Given the description of an element on the screen output the (x, y) to click on. 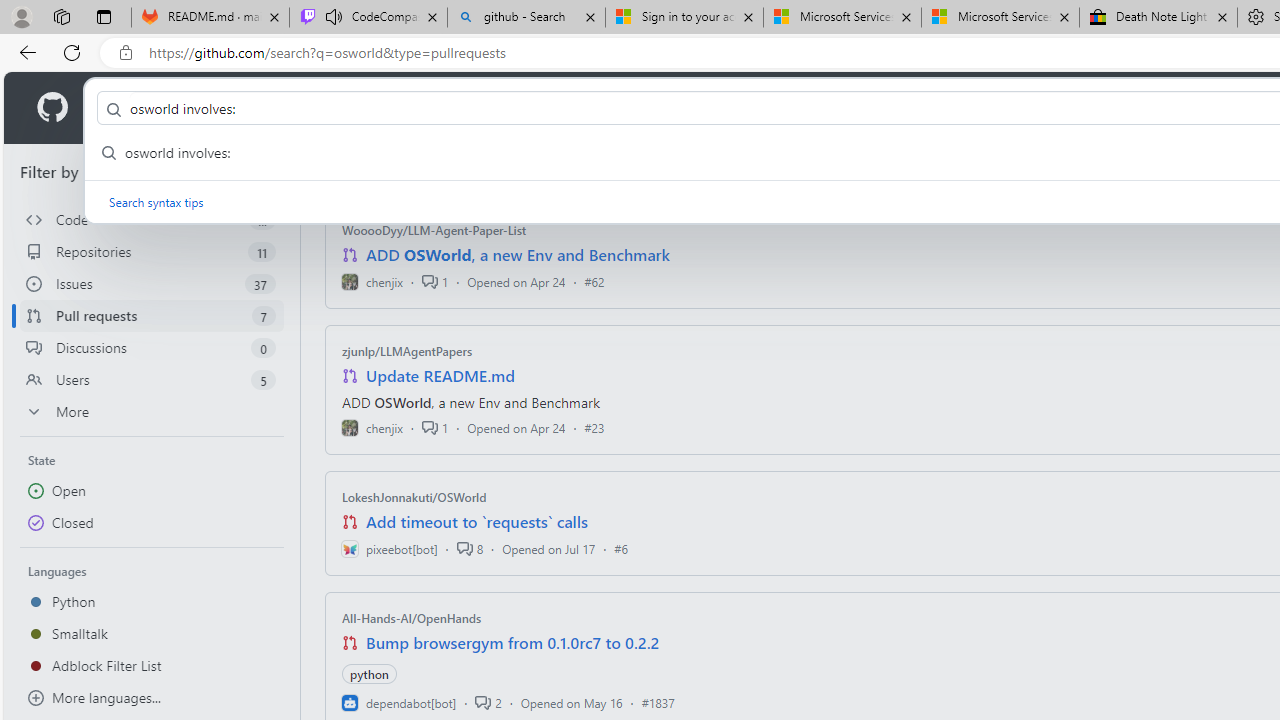
#62 (594, 281)
#1837 (657, 702)
Add timeout to `requests` calls (476, 521)
pixeebot[bot] (389, 548)
Bump browsergym from 0.1.0rc7 to 0.2.2 (513, 642)
Resources (330, 107)
All-Hands-AI/OpenHands (411, 618)
#62 (594, 281)
2 (487, 702)
#1837 (657, 702)
